Given the description of an element on the screen output the (x, y) to click on. 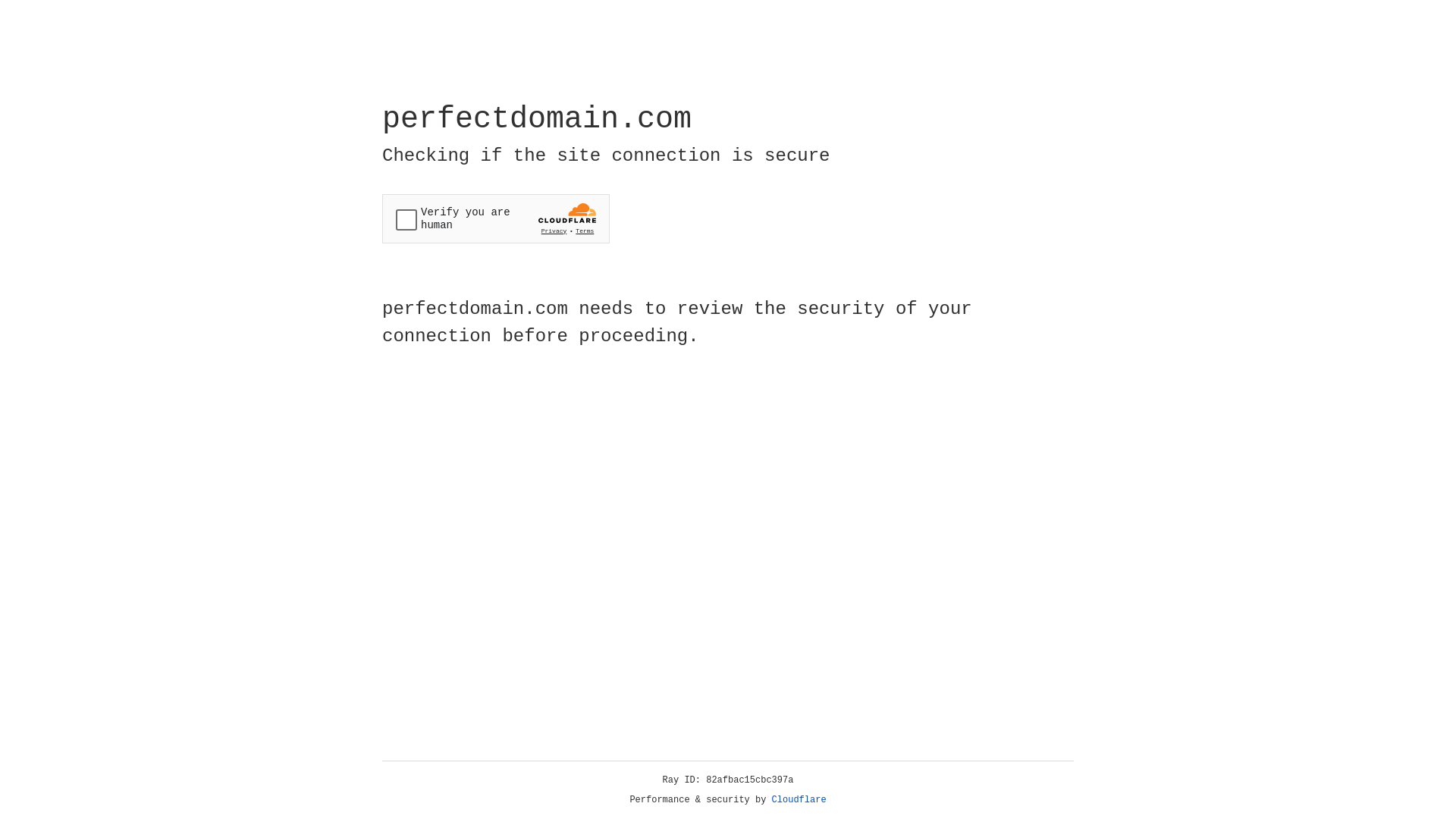
Cloudflare Element type: text (798, 799)
Widget containing a Cloudflare security challenge Element type: hover (495, 218)
